Given the description of an element on the screen output the (x, y) to click on. 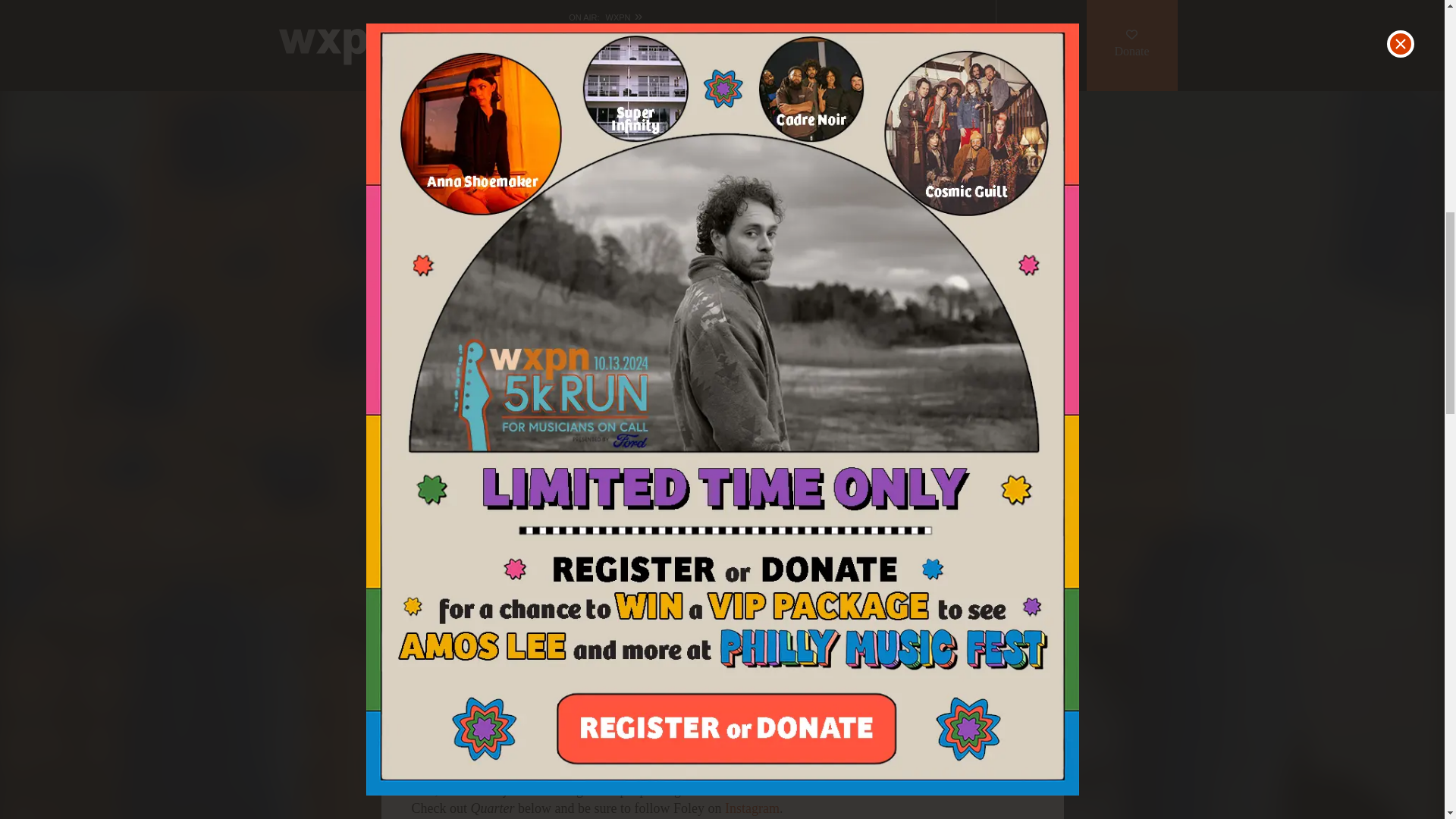
Instagram (751, 807)
Sammi-Jo Wall (462, 24)
